Given the description of an element on the screen output the (x, y) to click on. 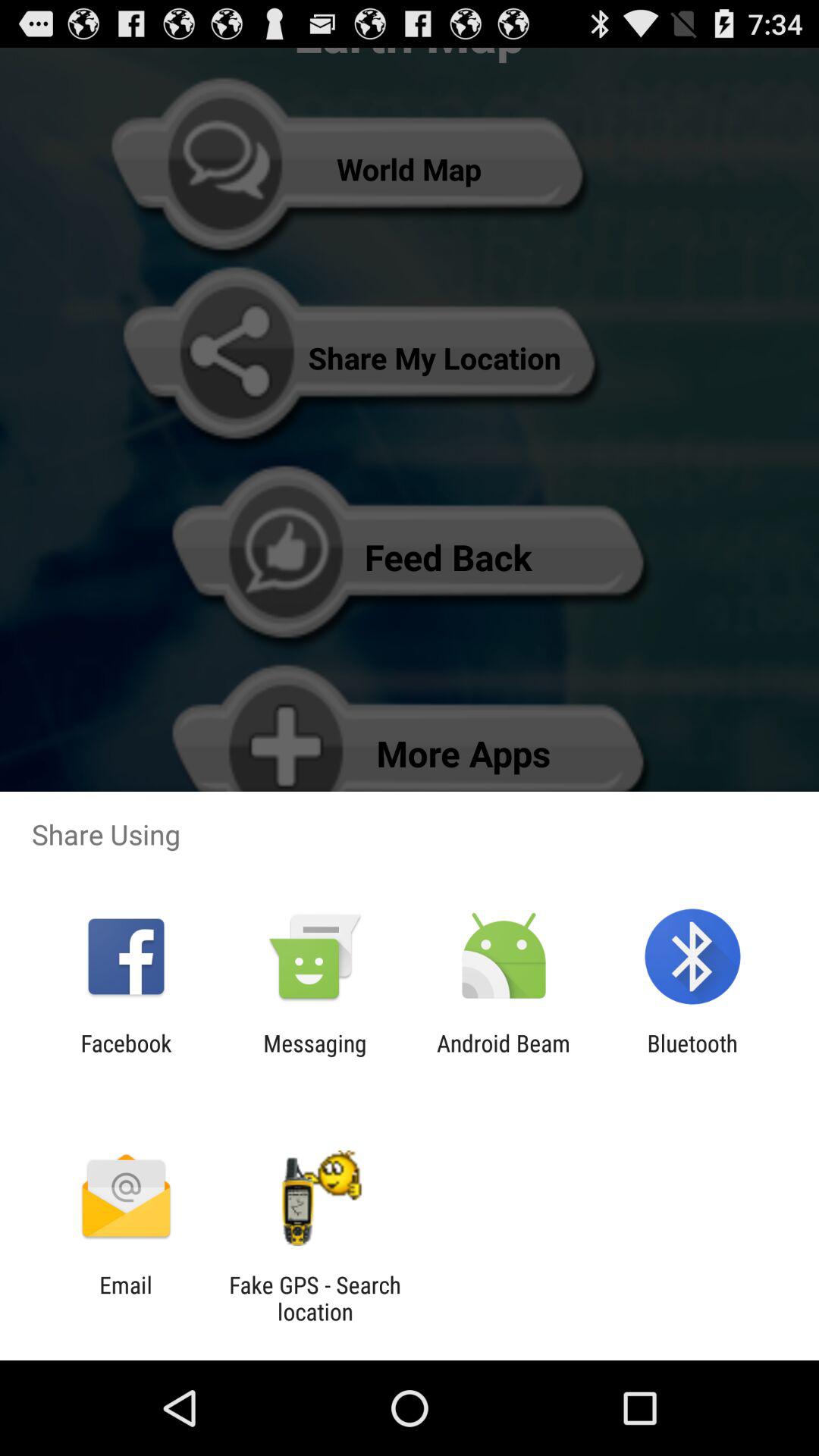
jump until messaging app (314, 1056)
